Given the description of an element on the screen output the (x, y) to click on. 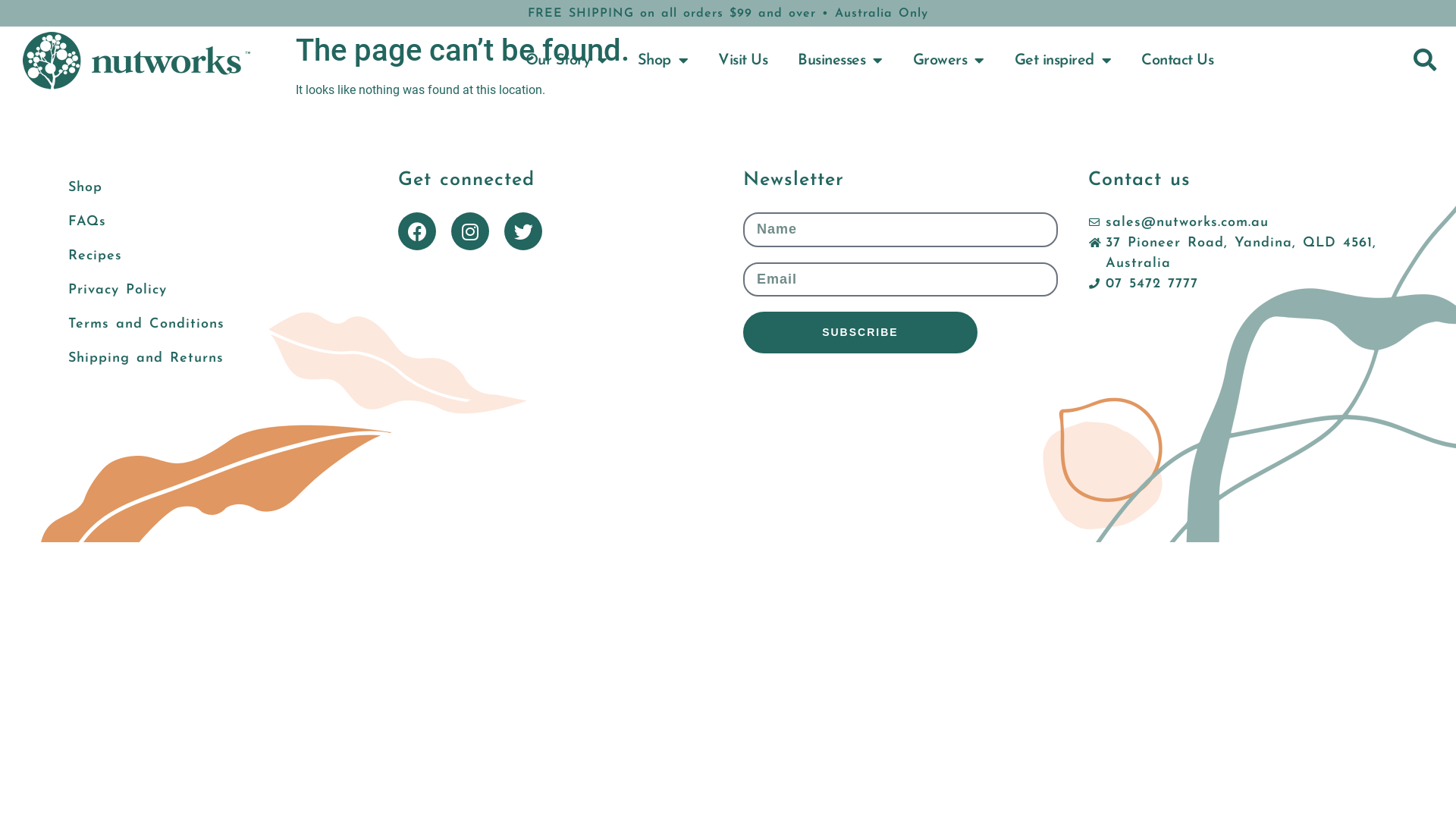
sales@nutworks.com.au Element type: text (1178, 222)
Get inspired Element type: text (1062, 60)
SUBSCRIBE Element type: text (860, 332)
Shipping and Returns Element type: text (210, 358)
Recipes Element type: text (210, 255)
Privacy Policy Element type: text (210, 290)
Terms and Conditions Element type: text (210, 324)
Businesses Element type: text (839, 60)
Our Story Element type: text (566, 60)
FAQs Element type: text (210, 221)
Shop Element type: text (662, 60)
Contact Us Element type: text (1177, 60)
07 5472 7777 Element type: text (1143, 283)
Visit Us Element type: text (742, 60)
Growers Element type: text (948, 60)
Shop Element type: text (210, 187)
